Given the description of an element on the screen output the (x, y) to click on. 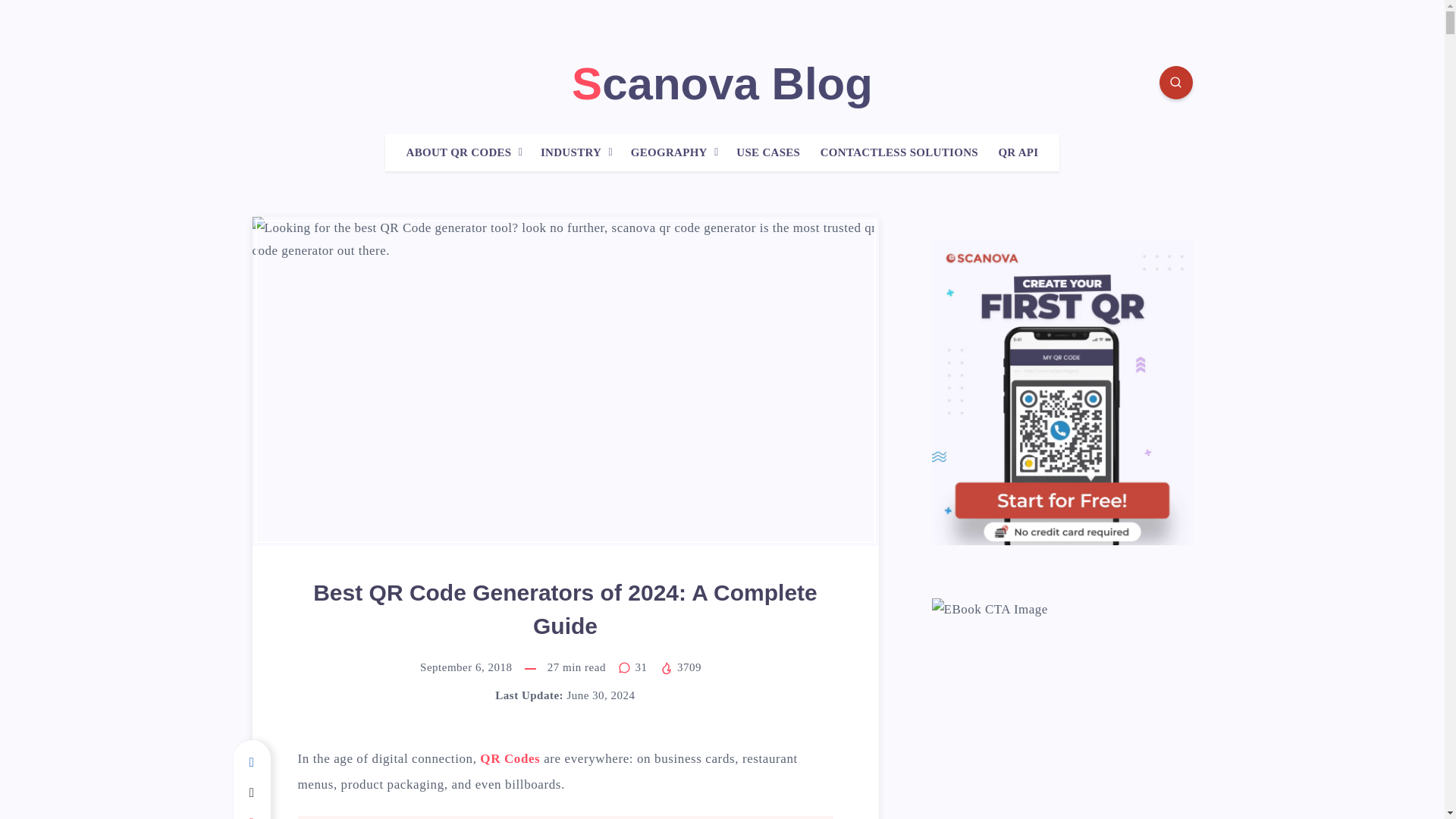
31 Comments (633, 666)
Scanova Blog (722, 83)
ABOUT QR CODES (459, 152)
3709 Views (680, 666)
INDUSTRY (570, 152)
